Given the description of an element on the screen output the (x, y) to click on. 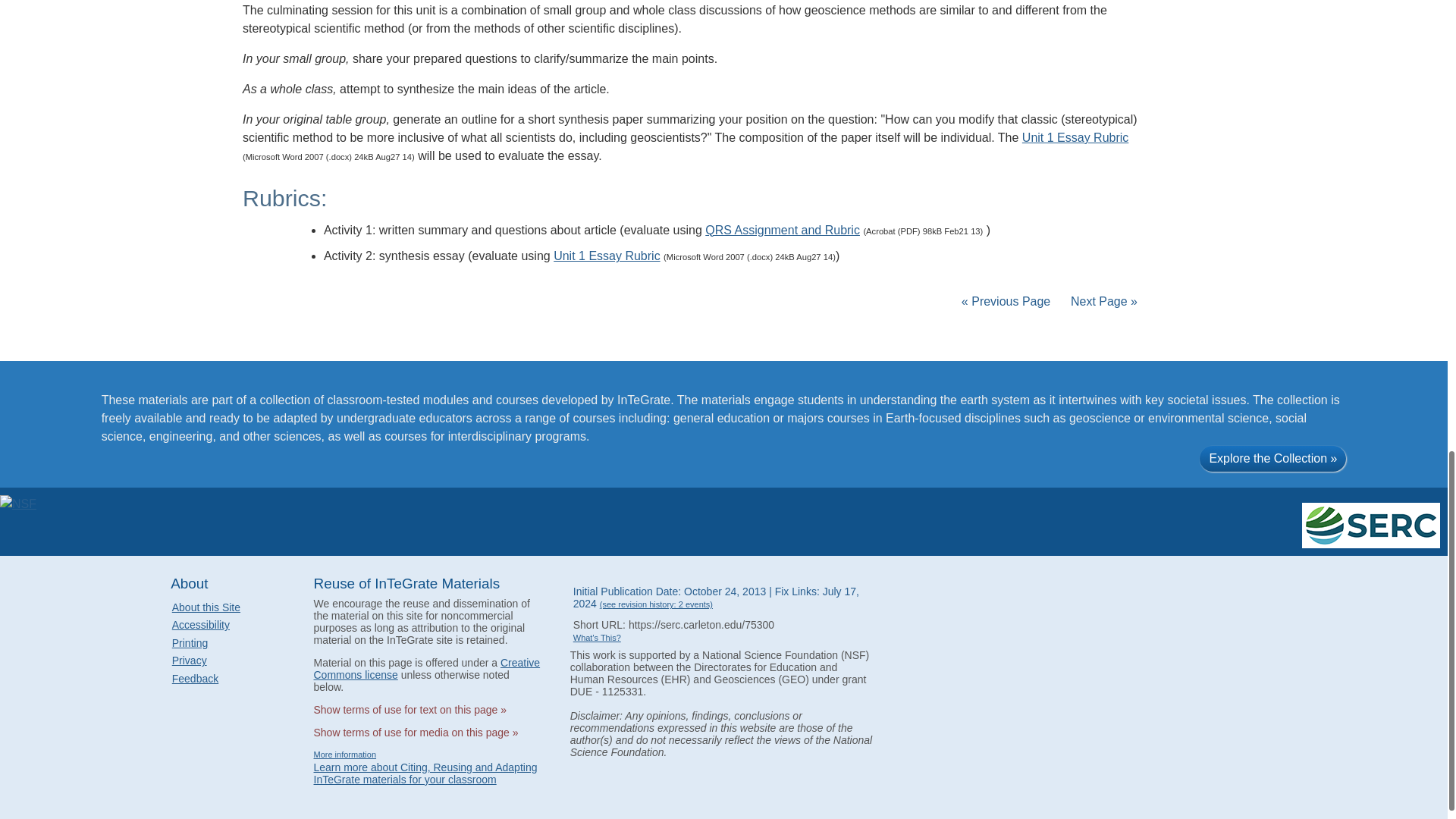
Unit 1 Essay Rubric (1075, 137)
Unit 1 Essay Rubric (607, 255)
QRS Assignment and Rubric (782, 229)
